Given the description of an element on the screen output the (x, y) to click on. 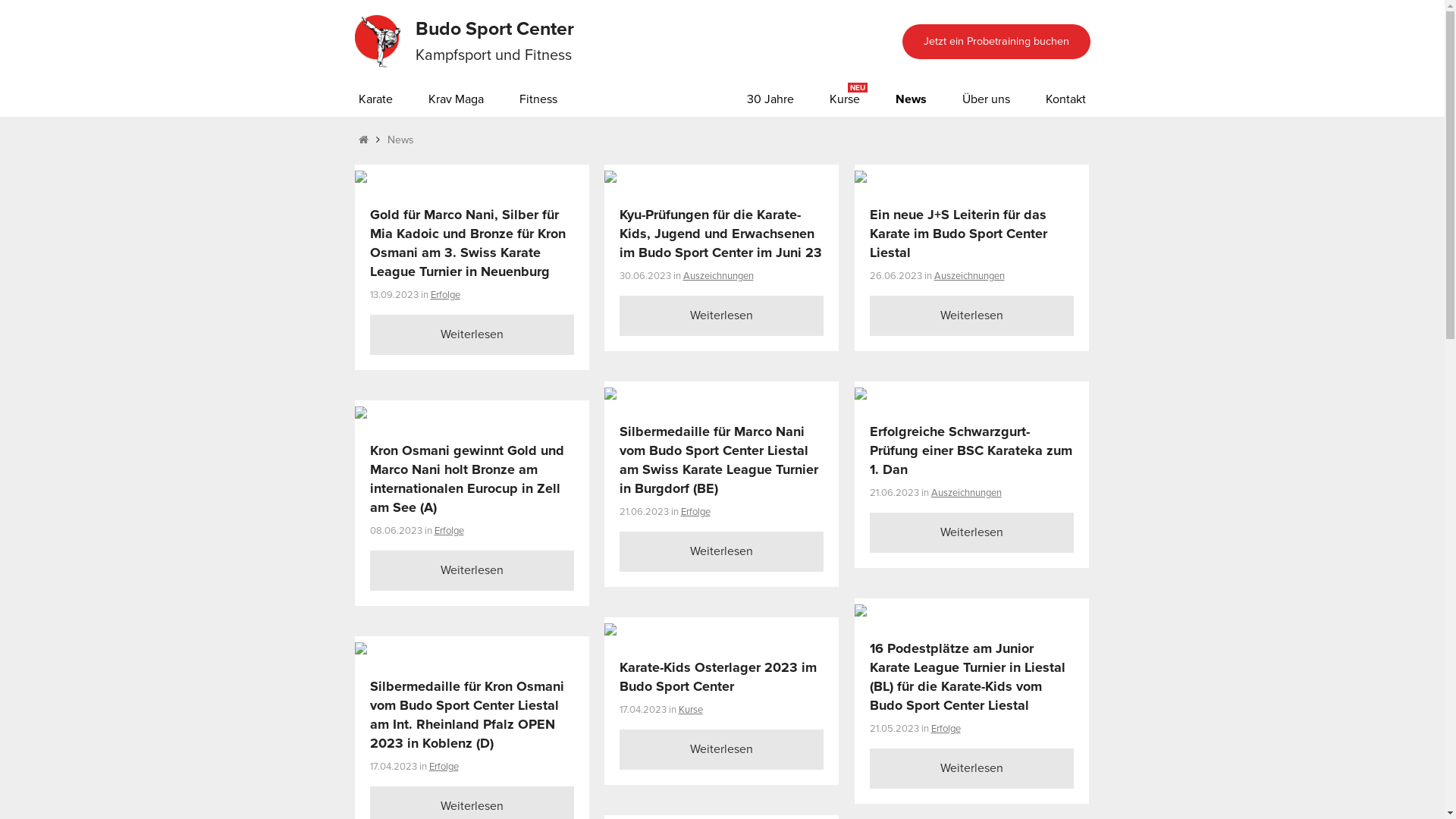
Erfolge Element type: text (695, 511)
News Element type: text (910, 99)
Kurse Element type: text (689, 709)
Kontakt Element type: text (1064, 99)
Erfolge Element type: text (445, 294)
Weiterlesen Element type: text (971, 532)
Auszeichnungen Element type: text (966, 492)
Weiterlesen Element type: text (720, 749)
Auszeichnungen Element type: text (969, 275)
Krav Maga Element type: text (455, 99)
Weiterlesen Element type: text (720, 315)
Kurse Element type: text (844, 99)
News Element type: text (399, 139)
30 Jahre Element type: text (769, 99)
Erfolge Element type: text (448, 530)
Auszeichnungen Element type: text (717, 275)
Fitness Element type: text (537, 99)
Erfolge Element type: text (443, 766)
Weiterlesen Element type: text (971, 315)
Jetzt ein Probetraining buchen Element type: text (996, 41)
Karate Element type: text (374, 99)
Weiterlesen Element type: text (472, 570)
Weiterlesen Element type: text (971, 768)
Erfolge Element type: text (945, 728)
Weiterlesen Element type: text (720, 551)
Weiterlesen Element type: text (472, 334)
